Given the description of an element on the screen output the (x, y) to click on. 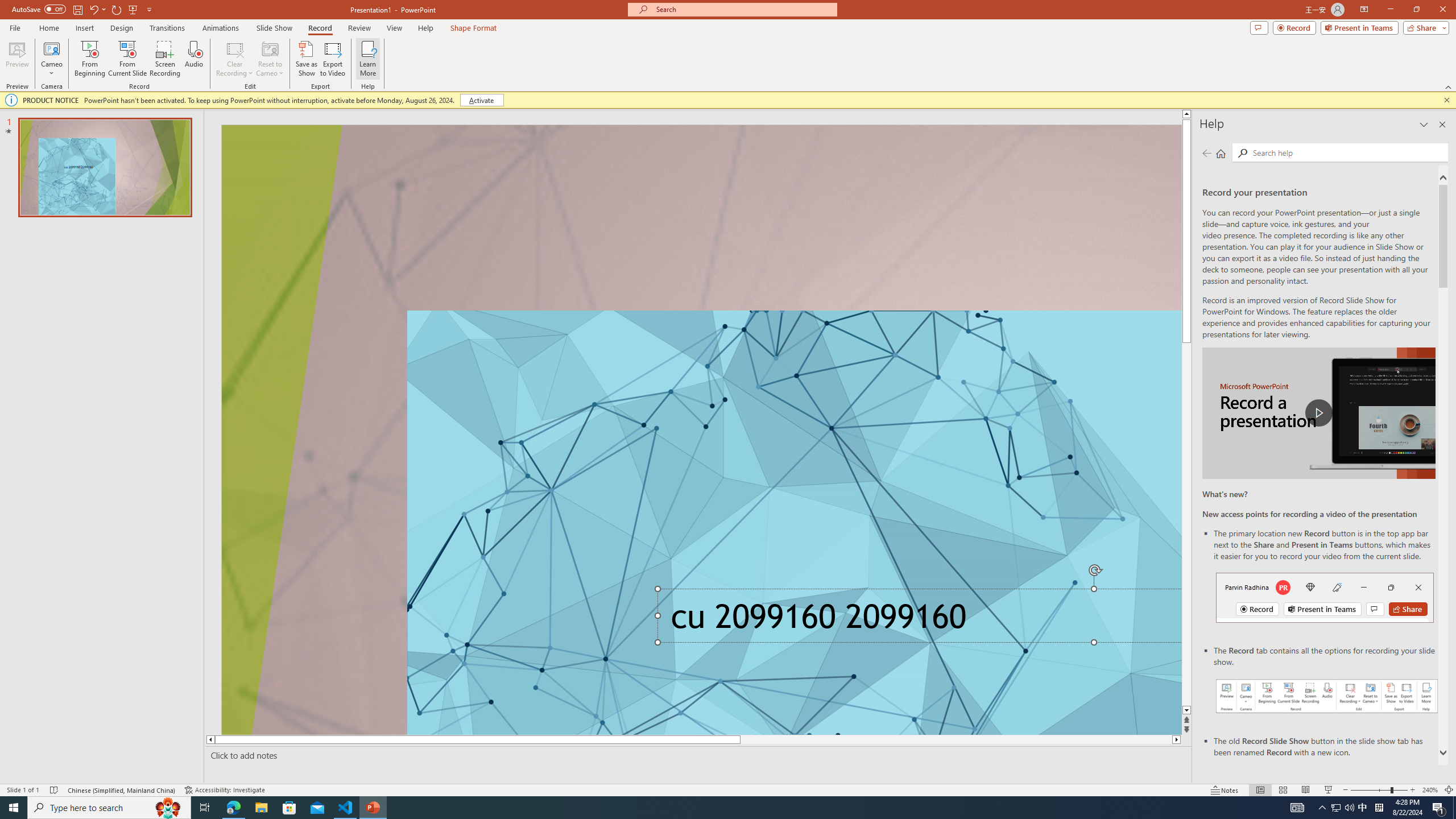
Record button in top bar (1324, 597)
Zoom 240% (1430, 790)
